Given the description of an element on the screen output the (x, y) to click on. 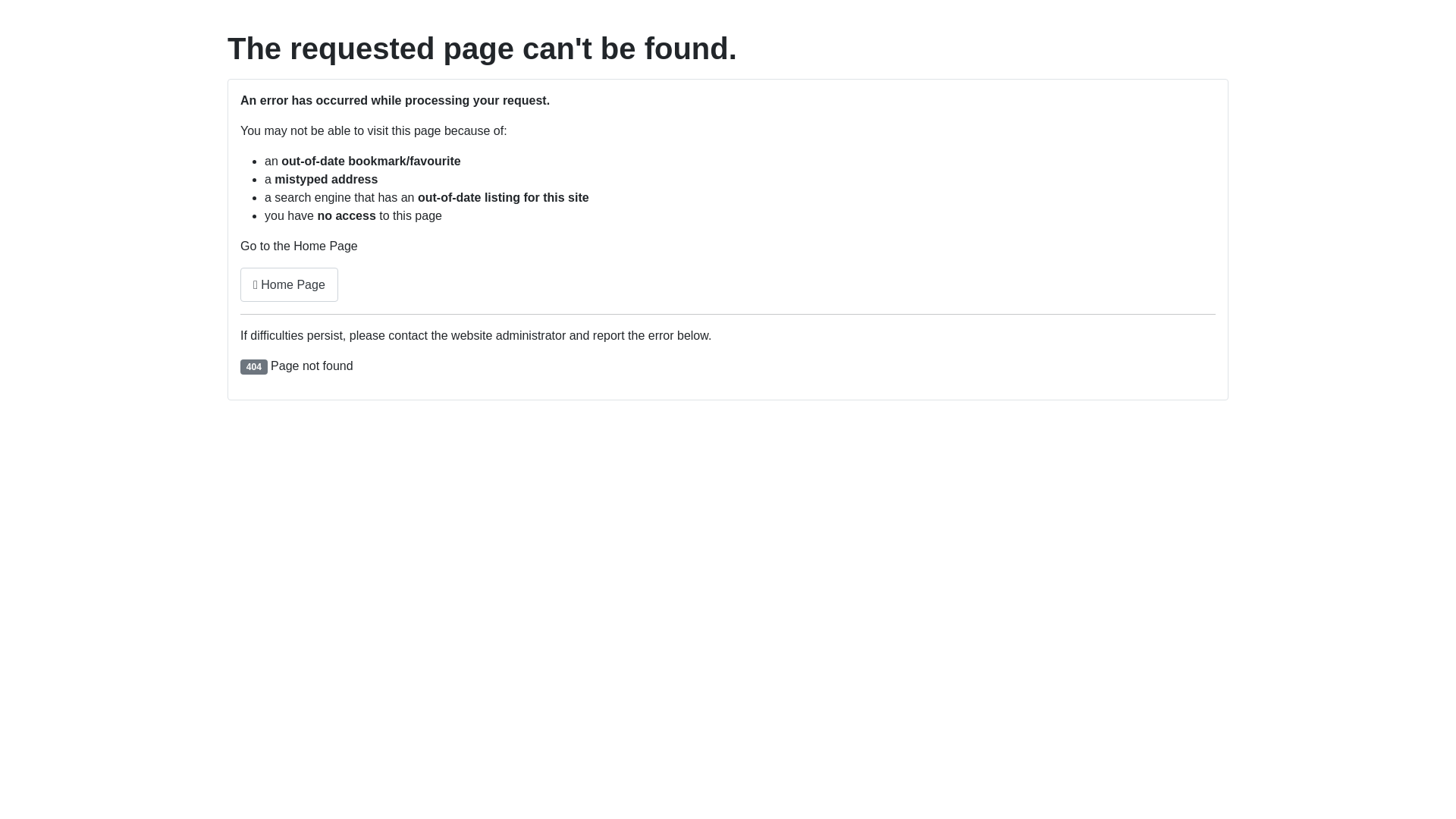
Home Page Element type: text (289, 284)
